Given the description of an element on the screen output the (x, y) to click on. 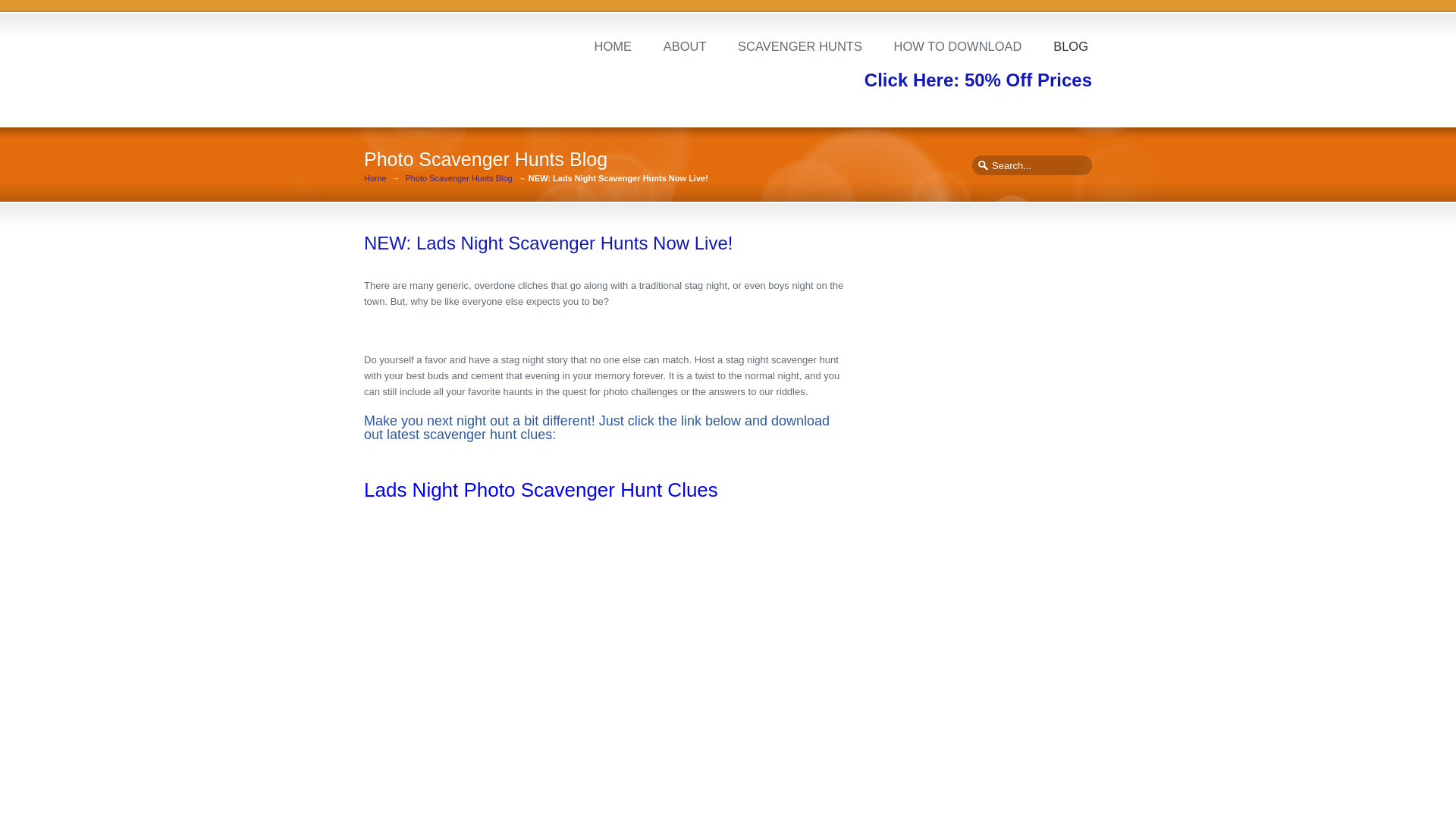
Photo Scavenger Hunts Blog (458, 178)
NEW: Lads Night Scavenger Hunts Now Live! (548, 242)
Search... (1030, 165)
HOW TO DOWNLOAD (957, 45)
BLOG (1070, 45)
NEW: Lads Night Scavenger Hunts Now Live! (548, 242)
ABOUT (684, 45)
Home (374, 178)
HOME (611, 45)
Lads Night Photo Scavenger Hunt Clues (540, 489)
